Given the description of an element on the screen output the (x, y) to click on. 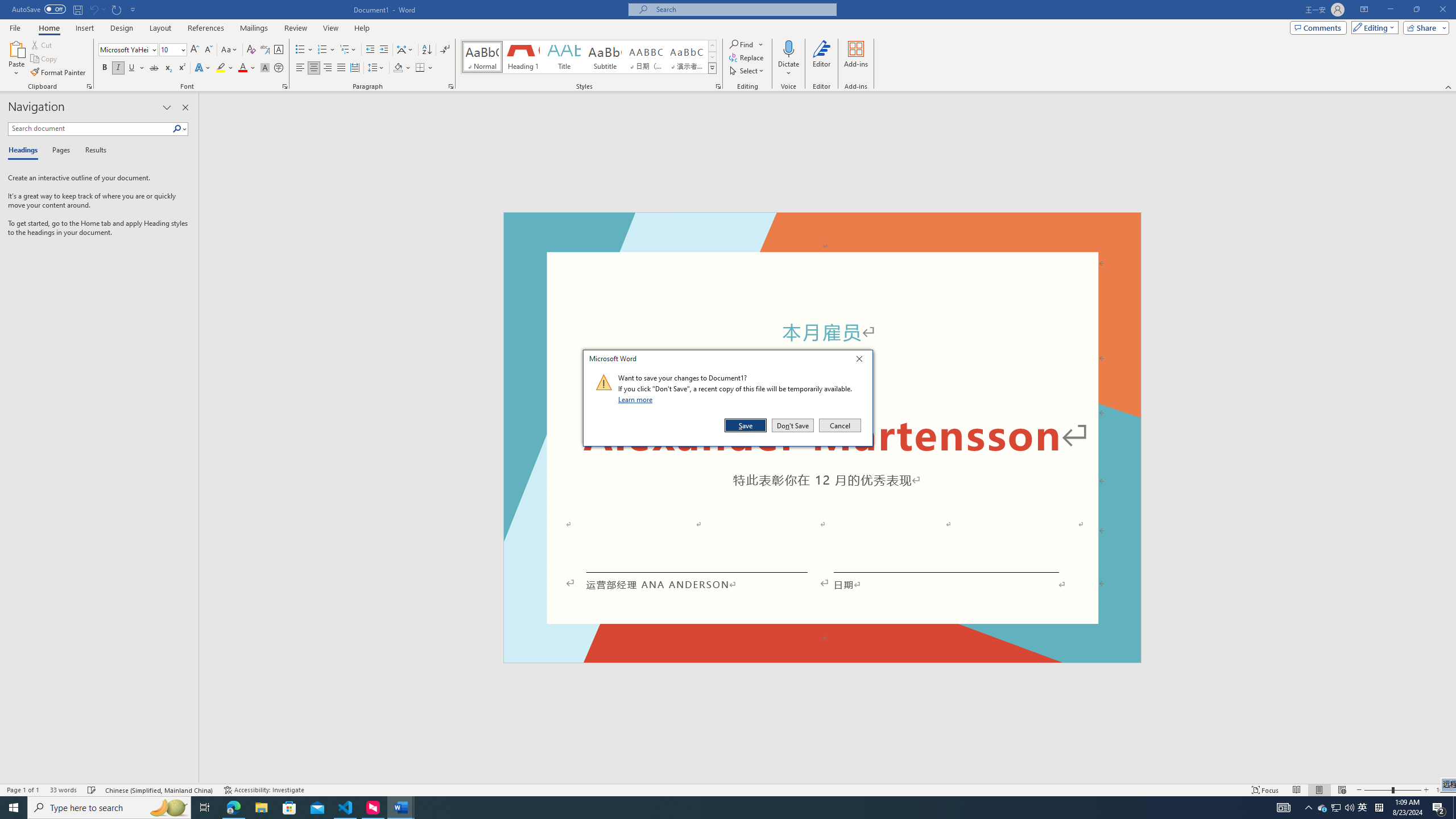
Language Chinese (Simplified, Mainland China) (159, 790)
Search document (89, 128)
Accessibility Checker Accessibility: Investigate (263, 790)
Word - 2 running windows (400, 807)
User Promoted Notification Area (1336, 807)
Microsoft Edge - 1 running window (233, 807)
Don't Save (792, 425)
Footer -Section 1- (822, 657)
Row Down (711, 56)
Spelling and Grammar Check Checking (91, 790)
Italic (118, 67)
Web Layout (1342, 790)
